Given the description of an element on the screen output the (x, y) to click on. 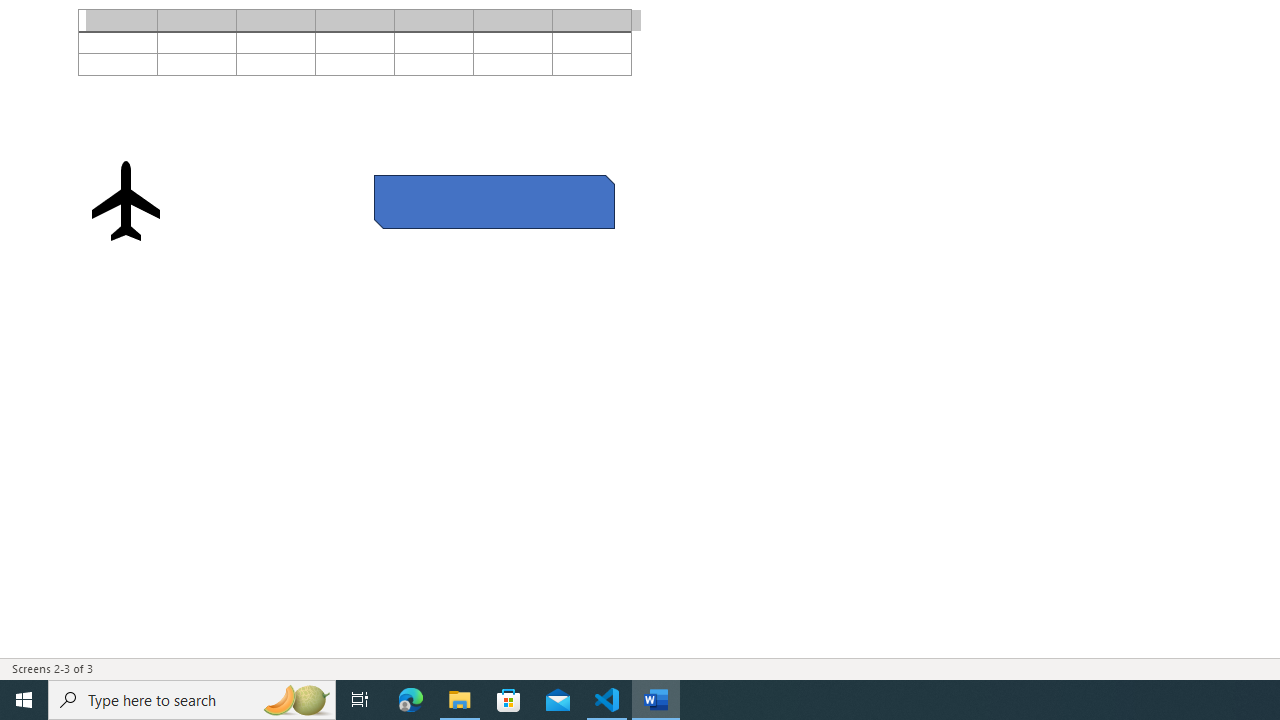
Airplane with solid fill (126, 200)
Rectangle: Diagonal Corners Snipped 2 (493, 201)
Page Number Screens 2-3 of 3  (52, 668)
